Given the description of an element on the screen output the (x, y) to click on. 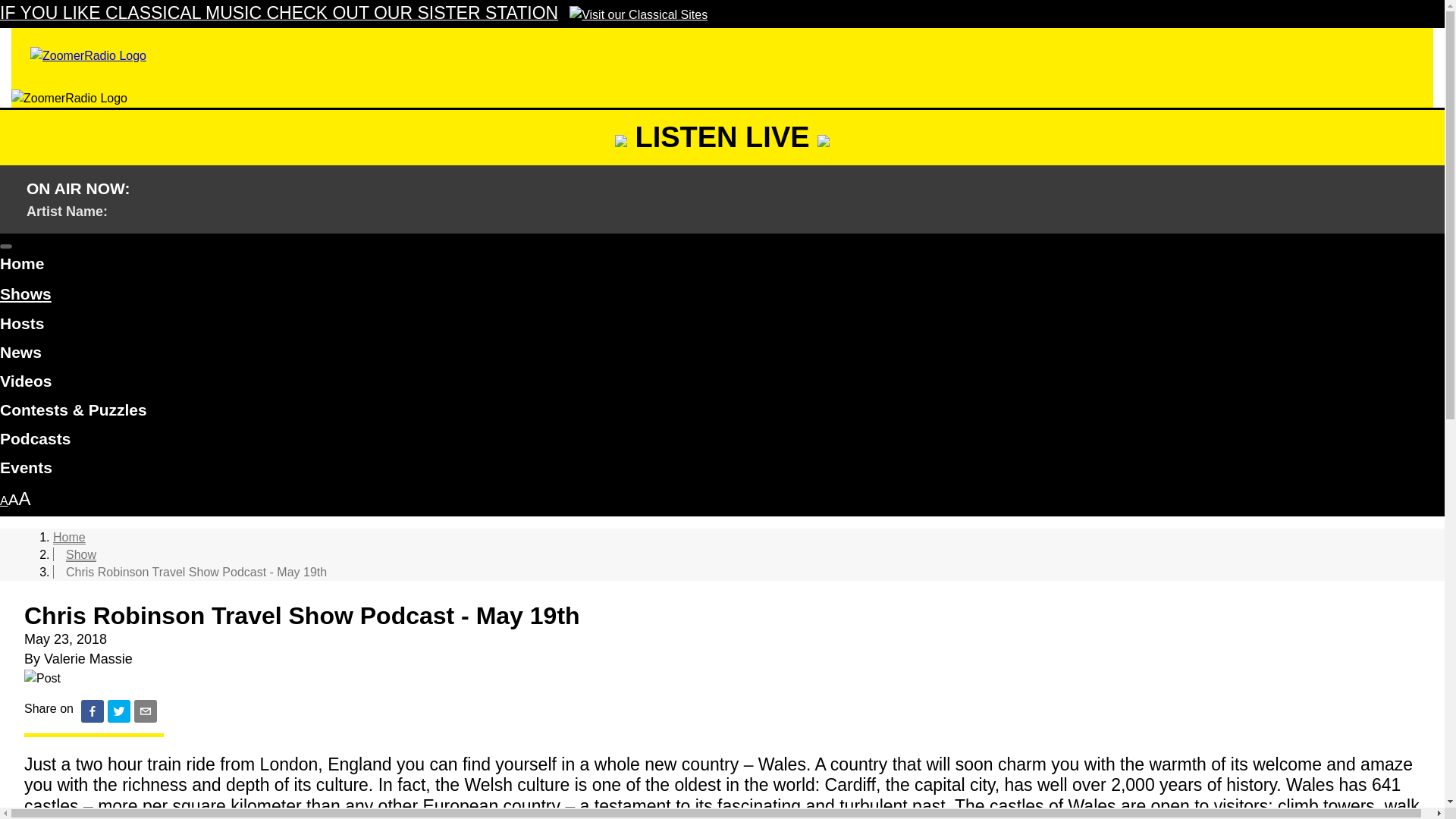
Events (722, 469)
Hosts (722, 326)
Chris Robinson Travel Show Podcast - May 19th (195, 571)
Videos (722, 383)
Show (80, 554)
Podcasts (722, 440)
News (722, 354)
LISTEN LIVE (722, 136)
Home (722, 265)
IF YOU LIKE CLASSICAL MUSIC CHECK OUT OUR SISTER STATION (353, 14)
Shows (25, 294)
Home (68, 537)
